Given the description of an element on the screen output the (x, y) to click on. 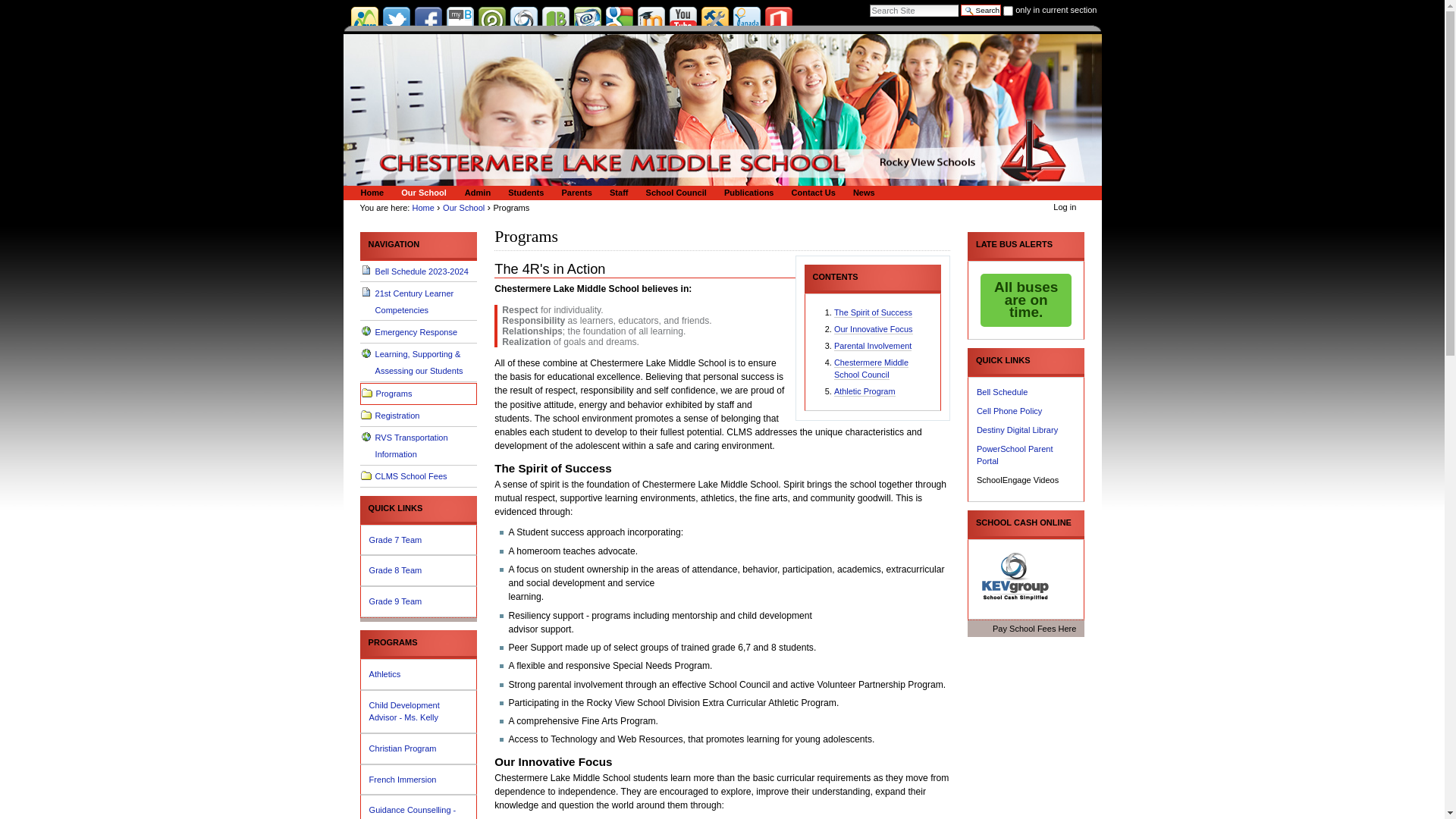
PowerSchool Parent Portal Element type: text (1014, 455)
Twitter Element type: hover (395, 19)
Rocky View Corporate Site Element type: hover (363, 19)
Cell Phone Policy Element type: text (1008, 410)
Our School Element type: text (421, 192)
Search Site Element type: hover (913, 10)
Grade 9 Team Element type: text (418, 601)
Home Element type: text (423, 207)
Registration Element type: text (418, 415)
Christian Program Element type: text (418, 748)
School Council Element type: text (674, 192)
Child Development Advisor - Ms. Kelly Element type: text (418, 711)
Home Element type: text (369, 192)
Students Element type: text (523, 192)
Bell Schedule 2023-2024 Element type: text (418, 271)
Pay School Fees Here Element type: text (1025, 628)
Grade 7 Team Element type: text (418, 539)
Emergency Response Element type: text (418, 331)
The Spirit of Success Element type: text (873, 312)
SCHOOL CASH ONLINE Element type: text (1025, 522)
RVS Transportation Information Element type: text (418, 446)
All buses are on time. Element type: text (1025, 299)
Tech Support Element type: hover (714, 19)
French Immersion Element type: text (418, 779)
NAVIGATION Element type: text (418, 244)
Grade 8 Team Element type: text (418, 570)
Our School Element type: text (463, 207)
Learning, Supporting & Assessing our Students Element type: text (418, 363)
Admin Element type: text (475, 192)
School Cash Net Element type: hover (522, 19)
Chestermere Middle School Council Element type: text (871, 368)
Log in Element type: text (1064, 206)
Contact Us Element type: text (811, 192)
21st Century Learner Competencies Element type: text (418, 301)
Destiny Digital Library Element type: text (1016, 429)
My Blueprint Element type: hover (459, 19)
School Cash Element type: hover (1014, 576)
RVS Gmail Element type: hover (586, 19)
Staff Element type: text (616, 192)
Moodle Element type: hover (650, 19)
Athletic Program Element type: text (864, 391)
Parents Element type: text (574, 192)
Office 365 Element type: hover (777, 19)
Athletics Element type: text (418, 674)
YouTube Element type: hover (682, 19)
Our Innovative Focus Element type: text (873, 329)
News Element type: text (861, 192)
Search Element type: text (980, 9)
Publications Element type: text (746, 192)
Power School Element type: hover (491, 19)
CLMS School Fees Element type: text (418, 476)
Donations Element type: hover (745, 19)
Programs Element type: text (418, 393)
Facebook Element type: hover (427, 19)
SchoolEngage Videos Element type: text (1017, 479)
Parental Involvement Element type: text (872, 346)
Bell Schedule Element type: text (1001, 391)
Google Element type: hover (618, 19)
Bibliovation Element type: hover (554, 19)
